Given the description of an element on the screen output the (x, y) to click on. 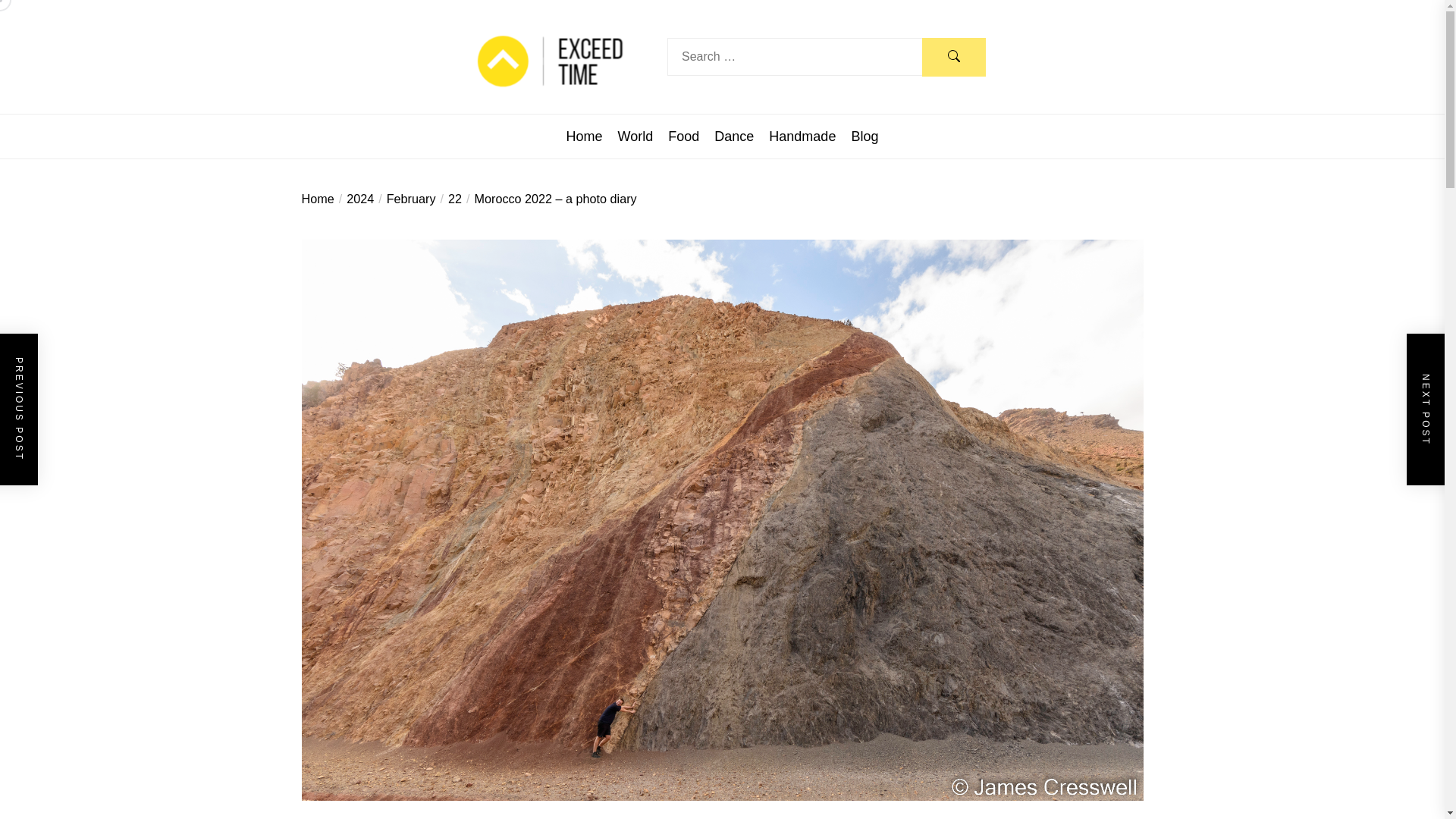
2024 (354, 198)
Blog (863, 136)
Food (683, 136)
Dance (734, 136)
22 (448, 198)
Home (317, 198)
World (635, 136)
Handmade (801, 136)
February (404, 198)
Home (584, 136)
